Given the description of an element on the screen output the (x, y) to click on. 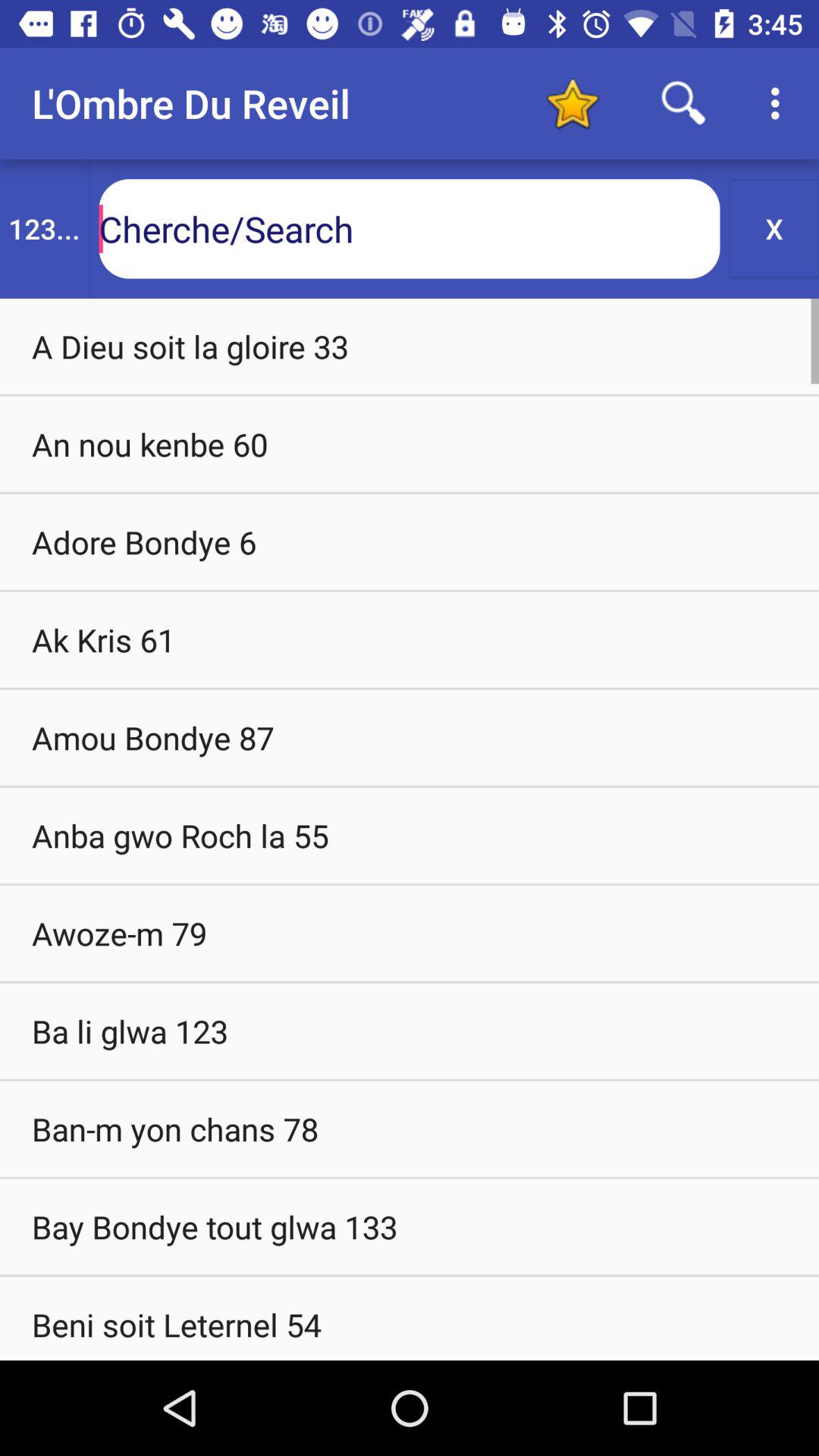
click the icon next to l ombre du item (571, 103)
